Given the description of an element on the screen output the (x, y) to click on. 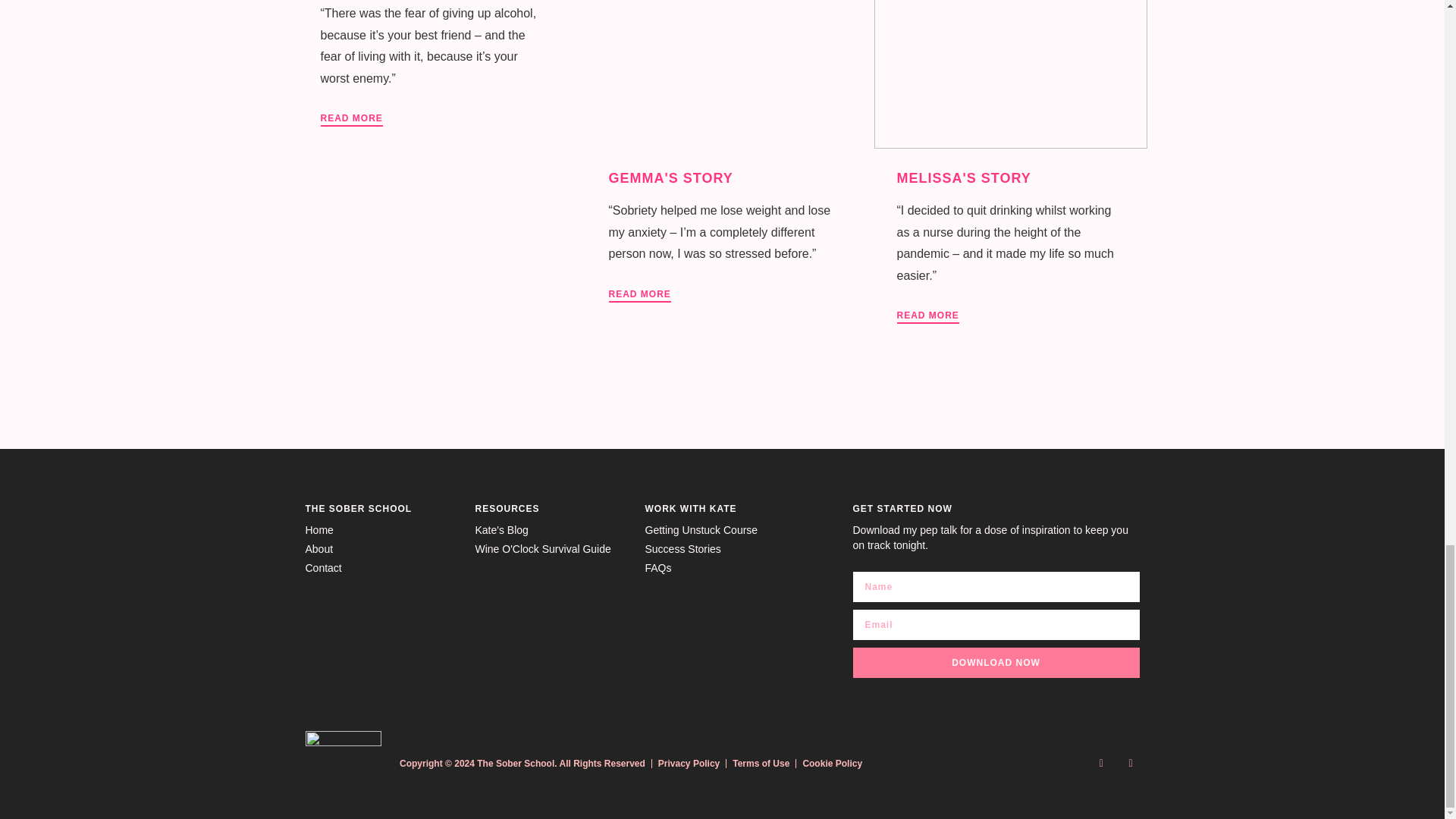
Kate's Blog (551, 530)
READ MORE (350, 118)
READ MORE (927, 315)
Home (382, 530)
FAQs (722, 568)
Contact (382, 568)
Success Stories (722, 549)
Getting Unstuck Course (722, 530)
Privacy Policy (688, 763)
Cookie Policy (831, 763)
